Given the description of an element on the screen output the (x, y) to click on. 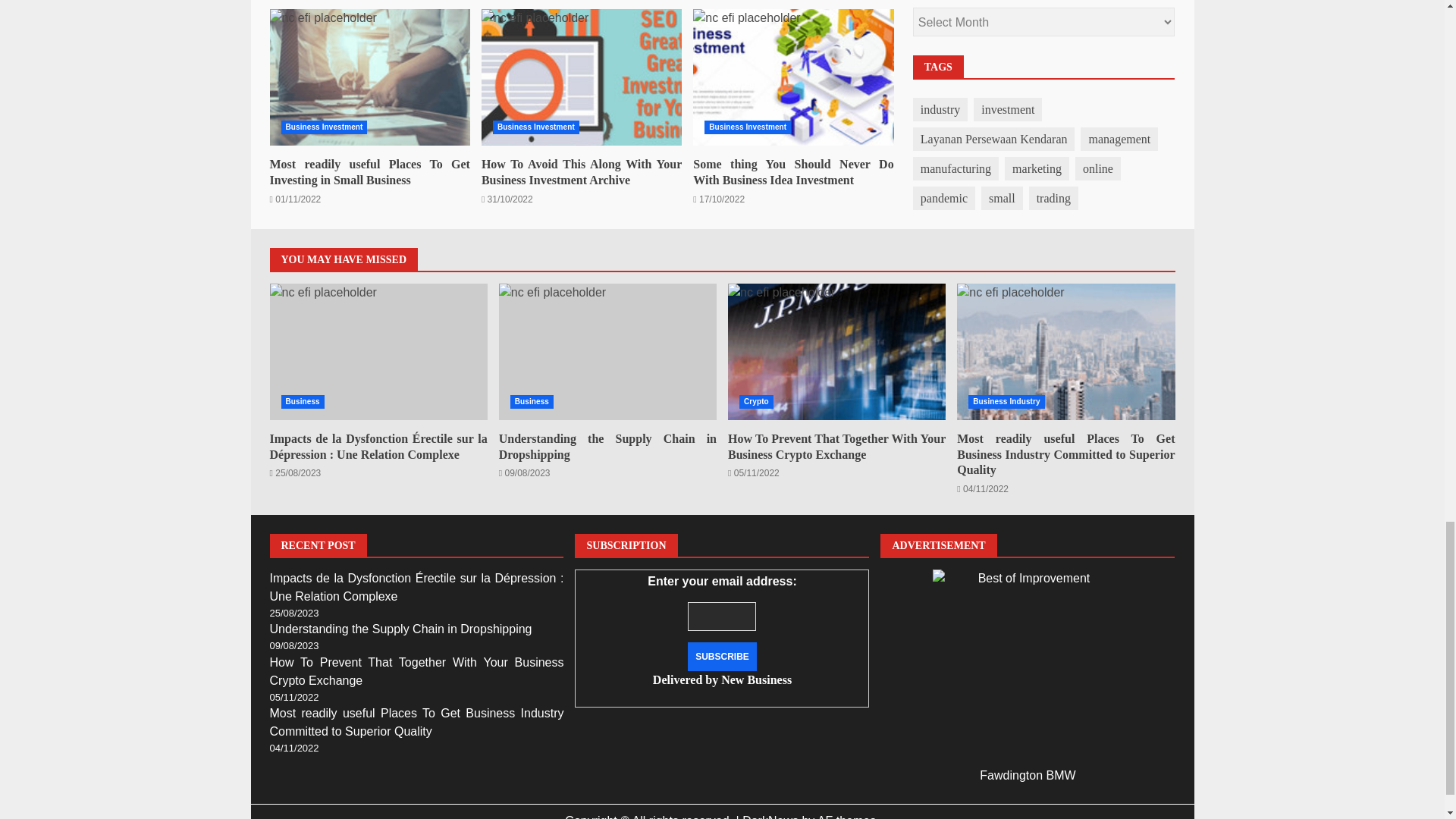
Business Investment (536, 127)
Some thing You Should Never Do With Business Idea Investment (793, 77)
Understanding the Supply Chain in Dropshipping (607, 351)
Business Investment (747, 127)
Some thing You Should Never Do With Business Idea Investment (793, 77)
Some thing You Should Never Do With Business Idea Investment (793, 172)
Business Investment (323, 127)
